Given the description of an element on the screen output the (x, y) to click on. 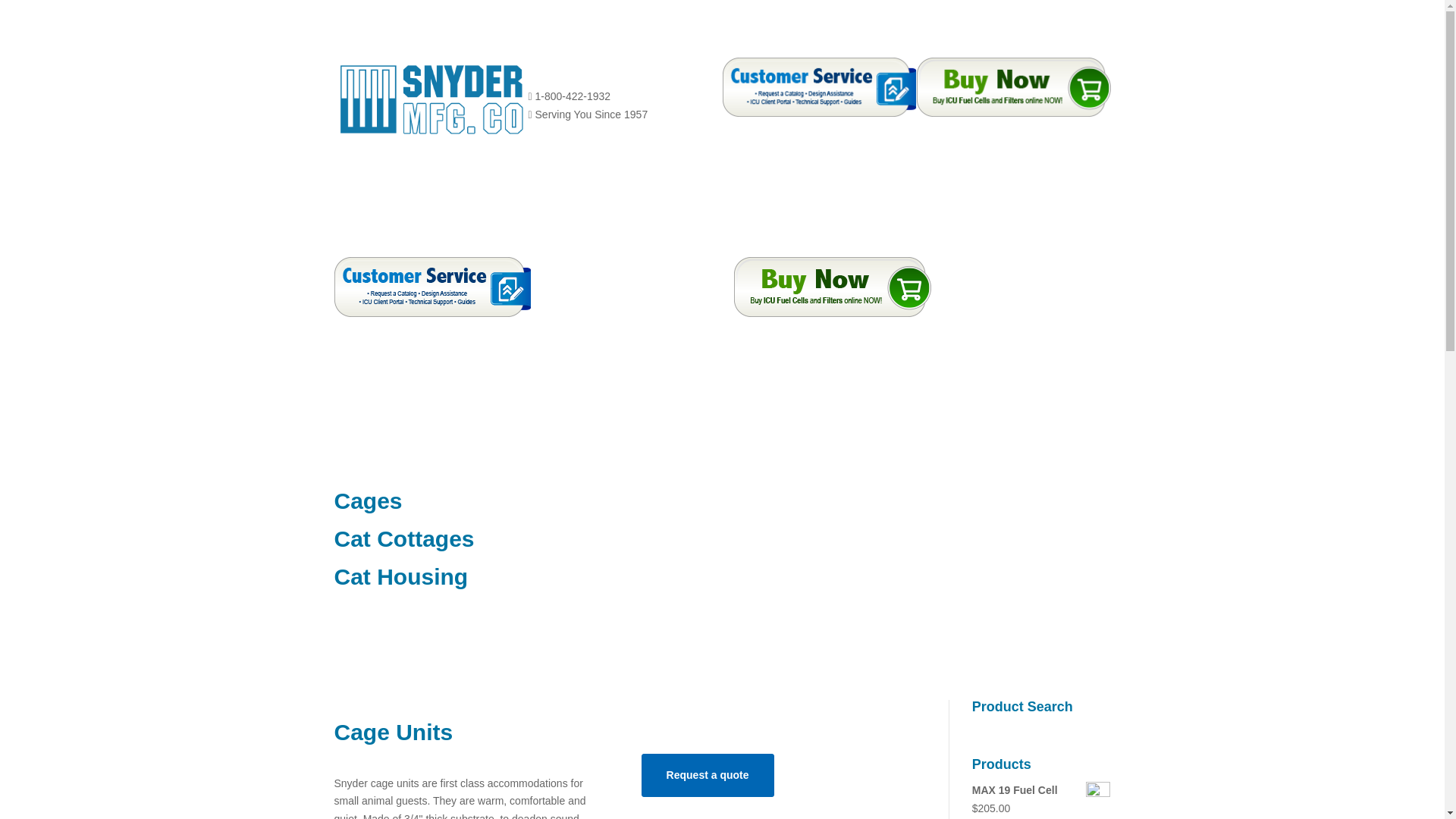
Follow on Facebook (539, 69)
Follow on Twitter (600, 69)
Follow on LinkedIn (569, 69)
